Given the description of an element on the screen output the (x, y) to click on. 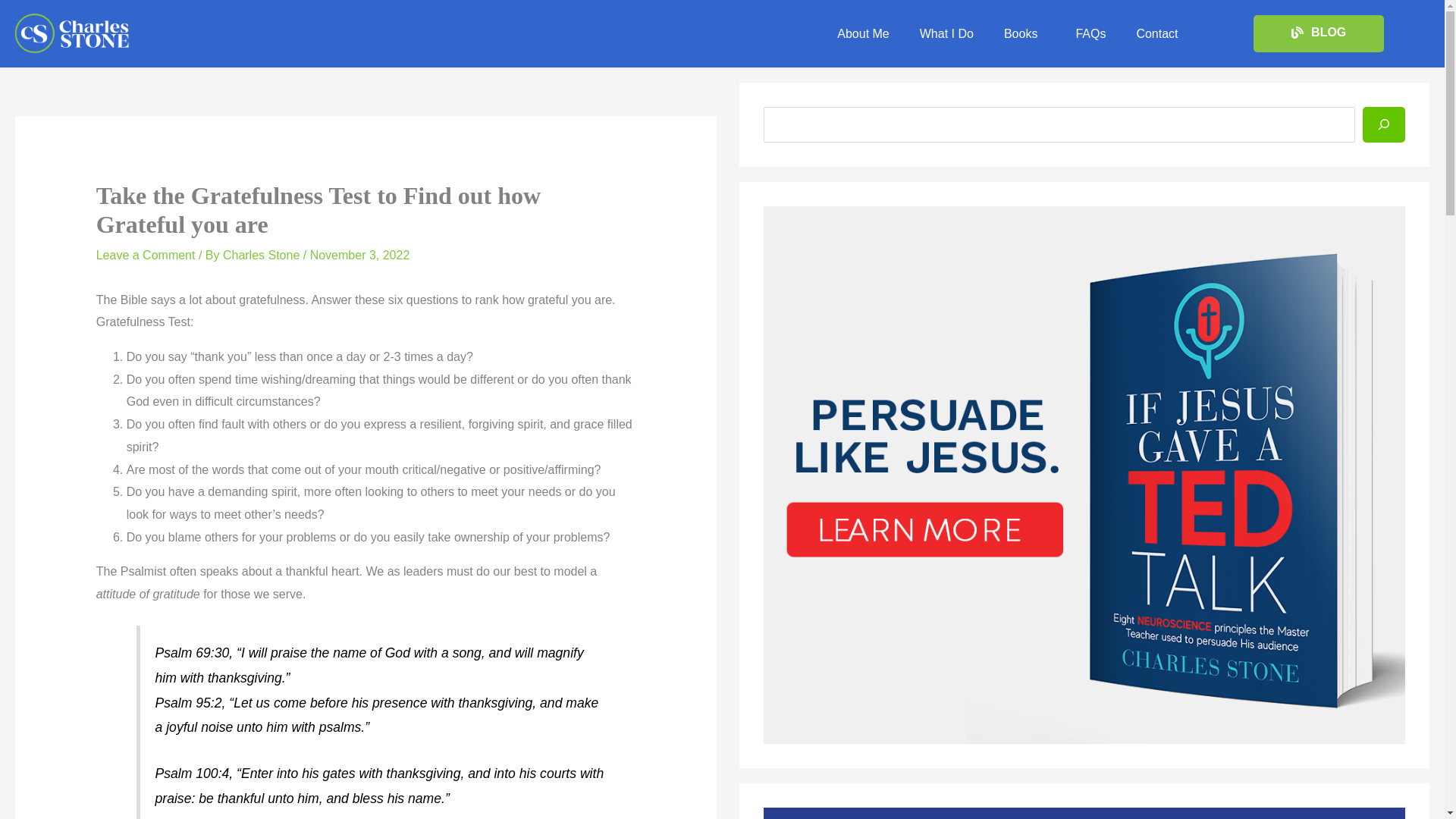
View all posts by Charles Stone (262, 254)
About Me (863, 33)
What I Do (946, 33)
BLOG (1318, 33)
Books (1023, 33)
Contact (1156, 33)
FAQs (1090, 33)
